Given the description of an element on the screen output the (x, y) to click on. 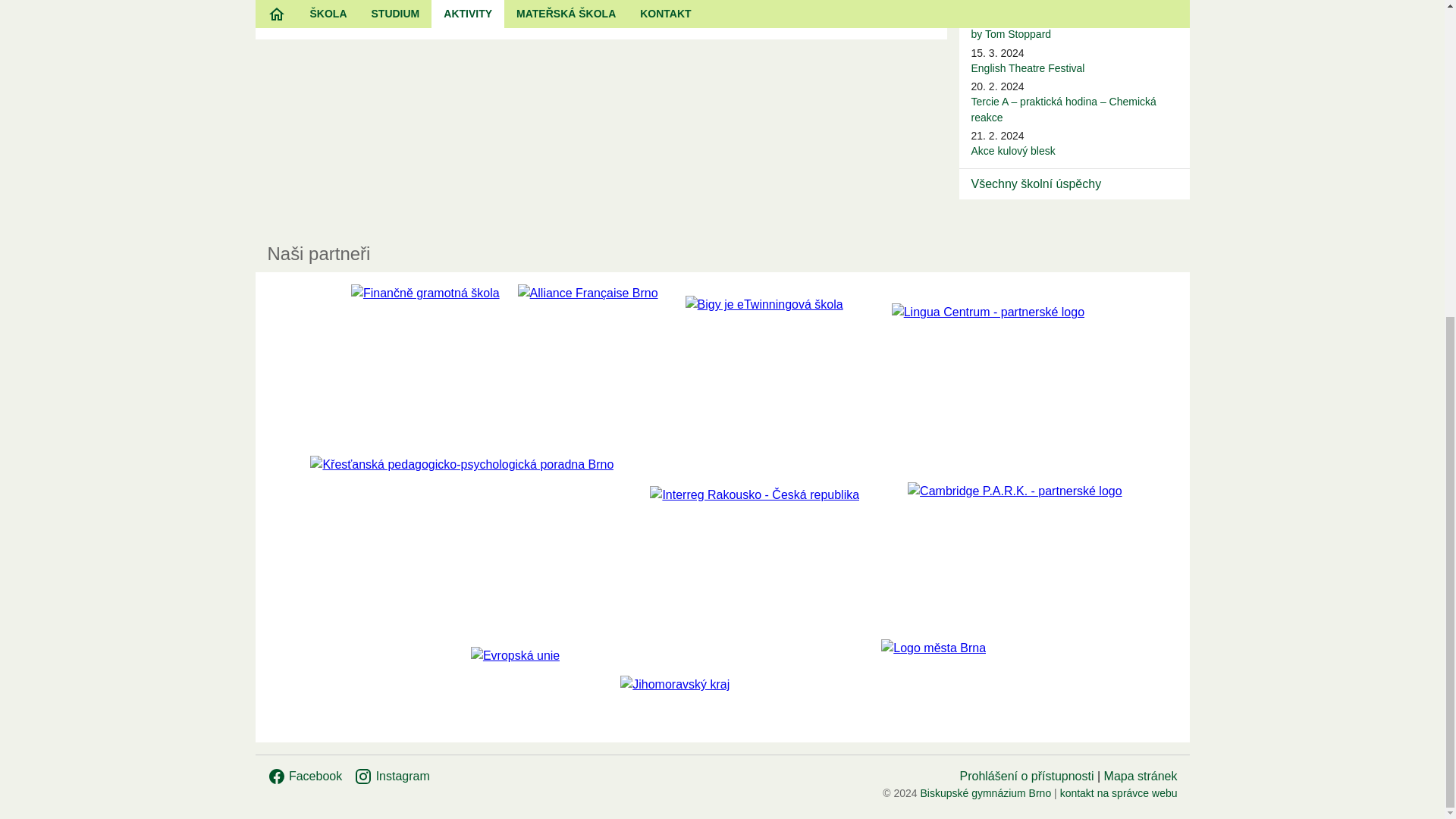
The Bigy Players present Professional Foul by Tom Stoppard (1072, 26)
English Theatre Festival (1027, 68)
